Given the description of an element on the screen output the (x, y) to click on. 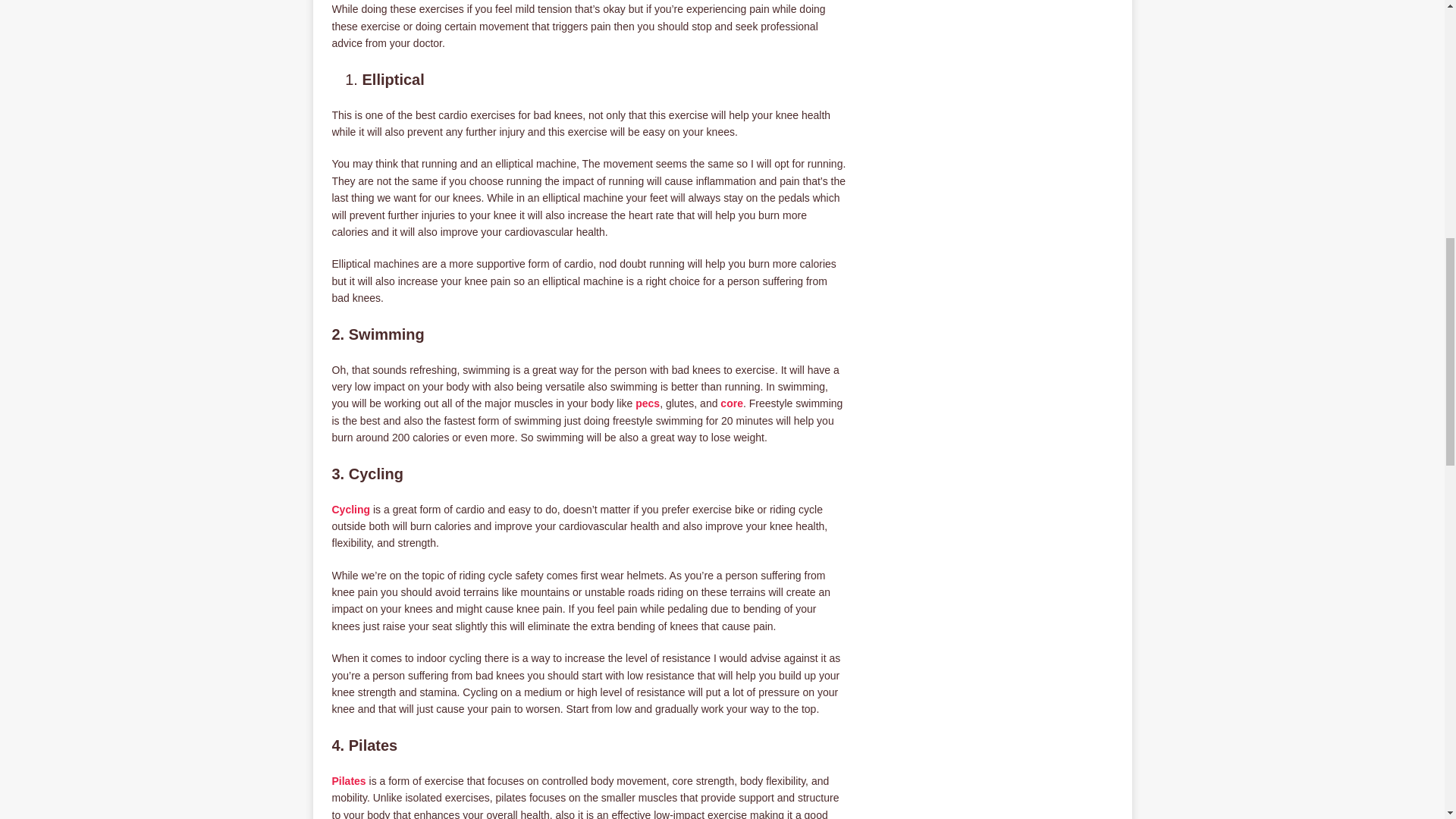
Cycling (351, 509)
core (731, 403)
Pilates (348, 780)
pecs (646, 403)
